Given the description of an element on the screen output the (x, y) to click on. 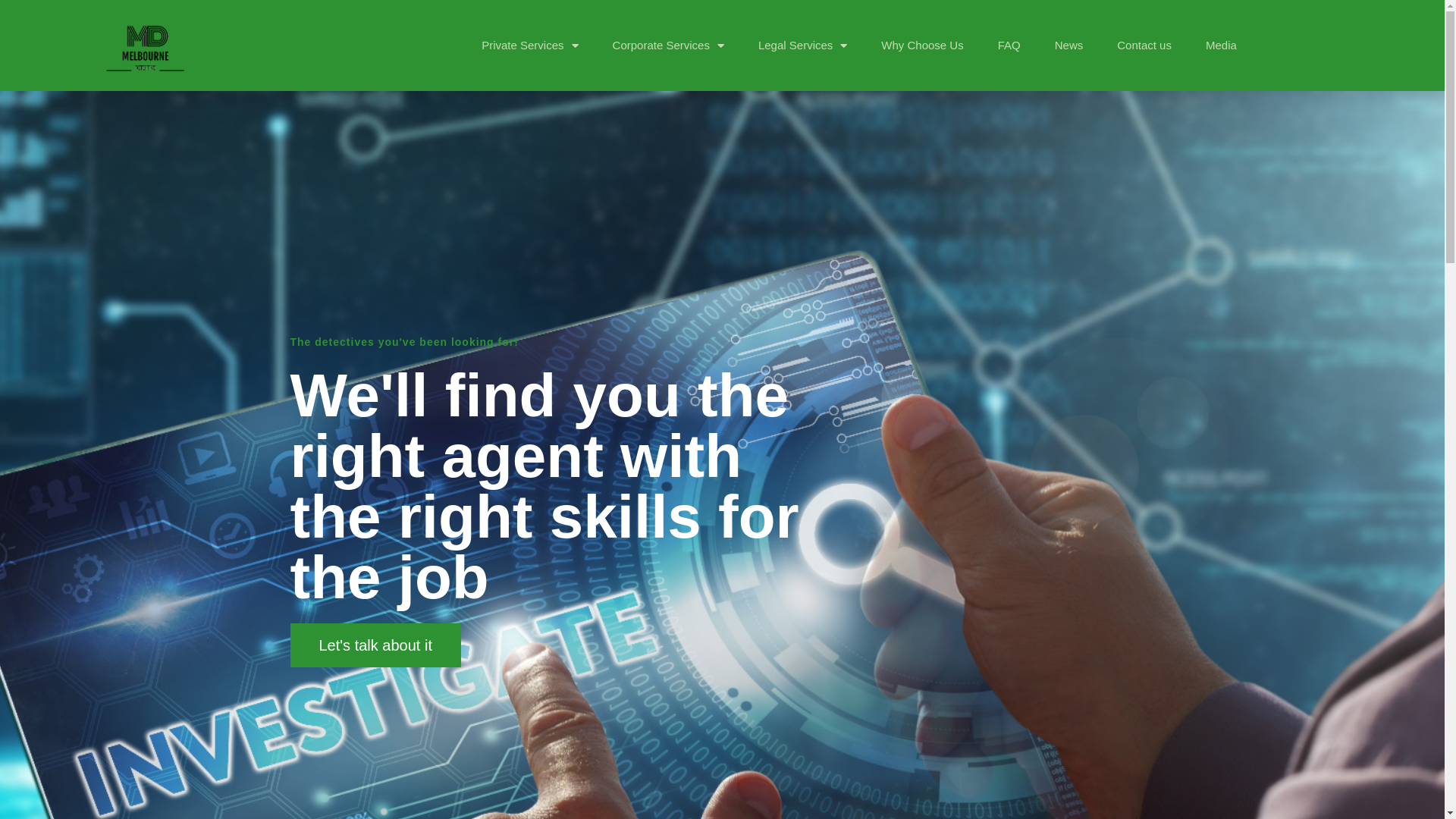
Why Choose Us Element type: text (922, 45)
Legal Services Element type: text (802, 45)
Corporate Services Element type: text (668, 45)
News Element type: text (1068, 45)
FAQ Element type: text (1008, 45)
Private Services Element type: text (529, 45)
Media Element type: text (1220, 45)
Contact us Element type: text (1144, 45)
Let's talk about it Element type: text (374, 645)
